Given the description of an element on the screen output the (x, y) to click on. 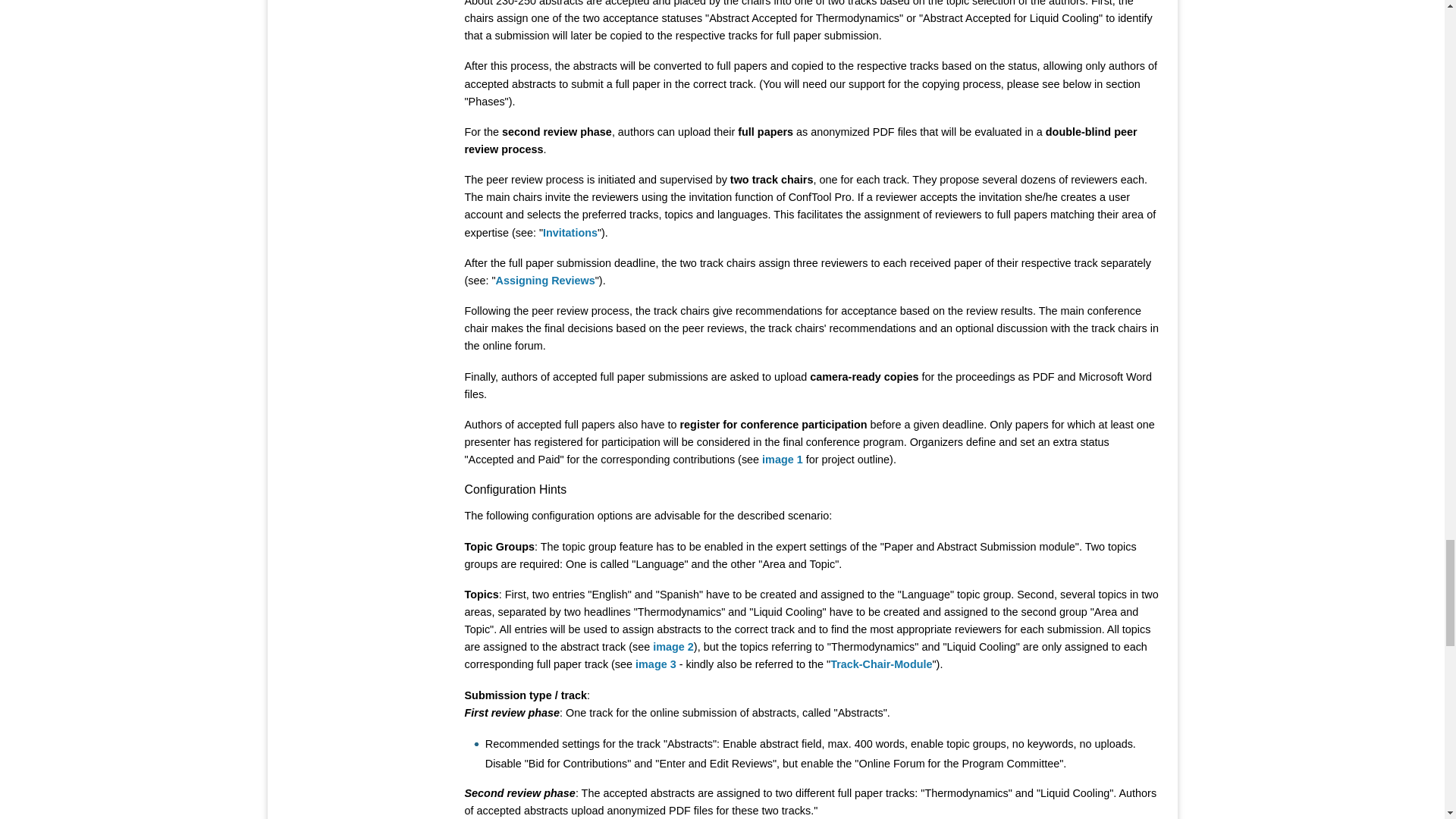
Opens internal link in current window (655, 664)
Opens internal link in current window (569, 232)
Opens internal link in current window (673, 646)
Opens internal link in current window (782, 459)
Opens internal link in current window (880, 664)
Opens internal link in current window (545, 280)
